Given the description of an element on the screen output the (x, y) to click on. 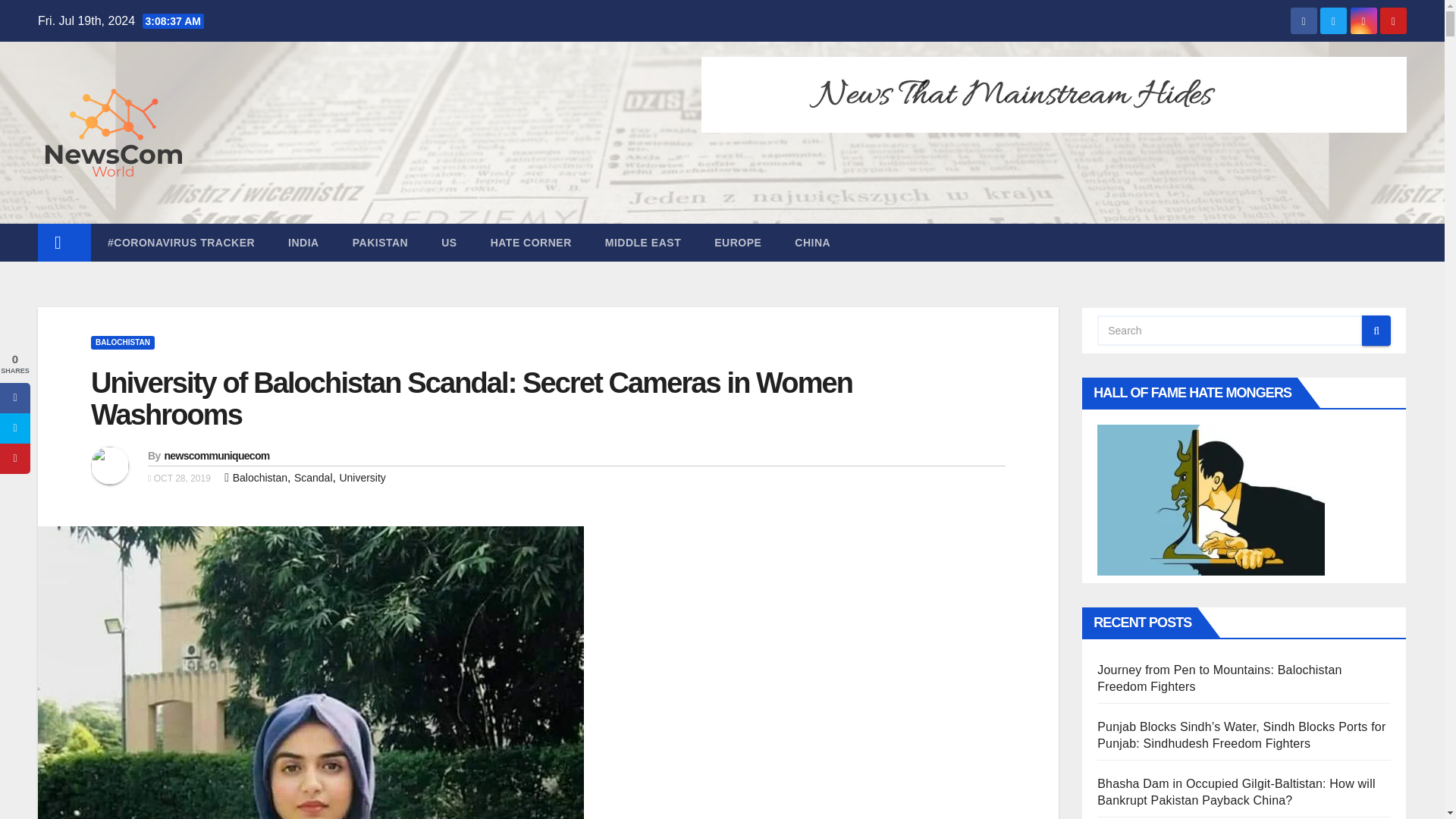
EUROPE (737, 242)
CHINA (812, 242)
University (362, 477)
Balochistan (259, 477)
Home (63, 242)
newscommuniquecom (216, 455)
INDIA (303, 242)
BALOCHISTAN (122, 342)
PAKISTAN (380, 242)
US (449, 242)
Scandal (313, 477)
HATE CORNER (531, 242)
MIDDLE EAST (642, 242)
